Given the description of an element on the screen output the (x, y) to click on. 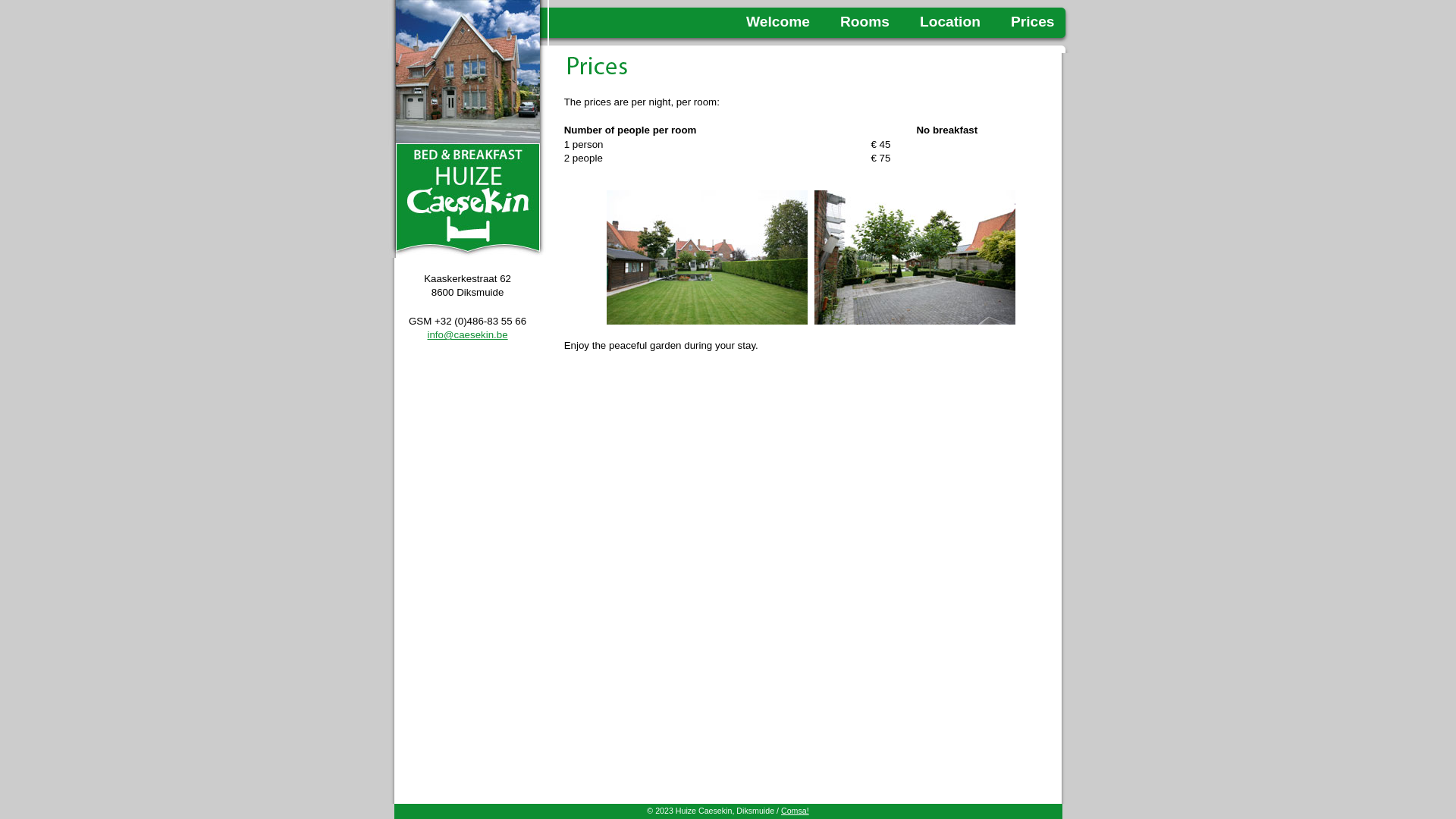
Prices Element type: text (1032, 21)
Rooms Element type: text (864, 21)
Welcome Element type: text (777, 21)
Location Element type: text (949, 21)
info@caesekin.be Element type: text (467, 334)
Comsa! Element type: text (795, 810)
